Given the description of an element on the screen output the (x, y) to click on. 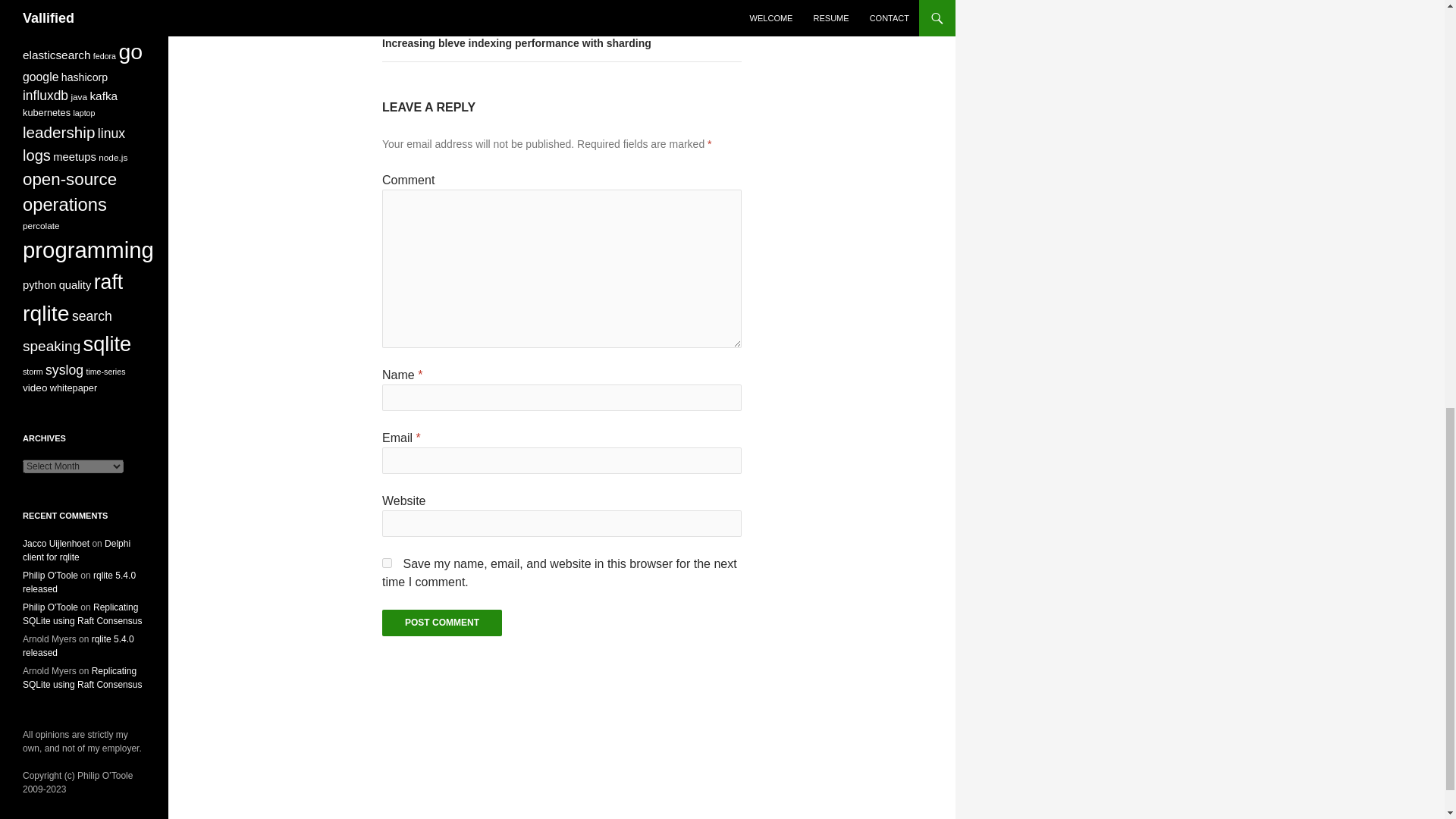
Post Comment (441, 622)
yes (386, 562)
Post Comment (441, 622)
